Given the description of an element on the screen output the (x, y) to click on. 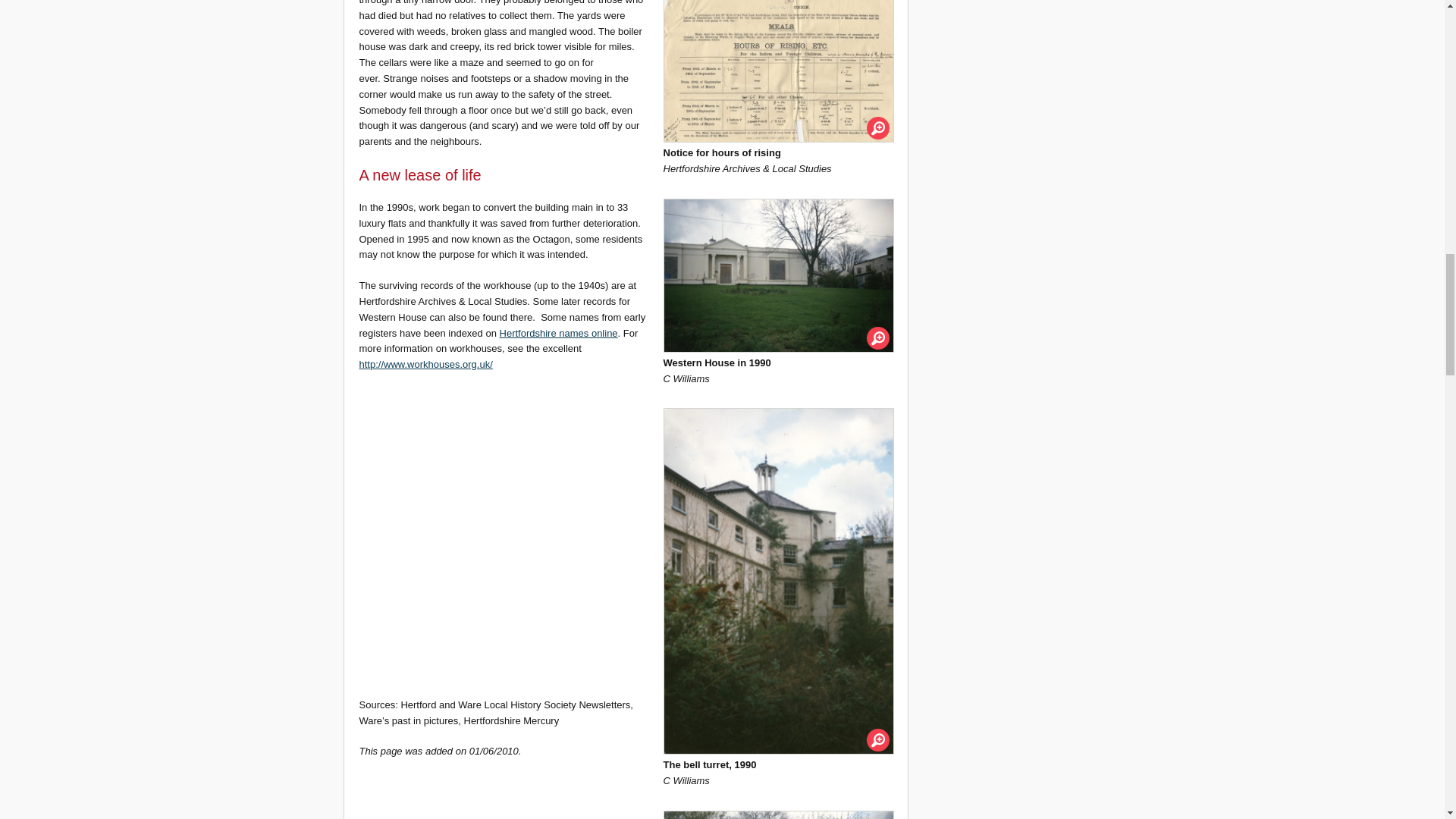
Notice for hours of rising (778, 71)
Western House in 1990 (778, 275)
